Given the description of an element on the screen output the (x, y) to click on. 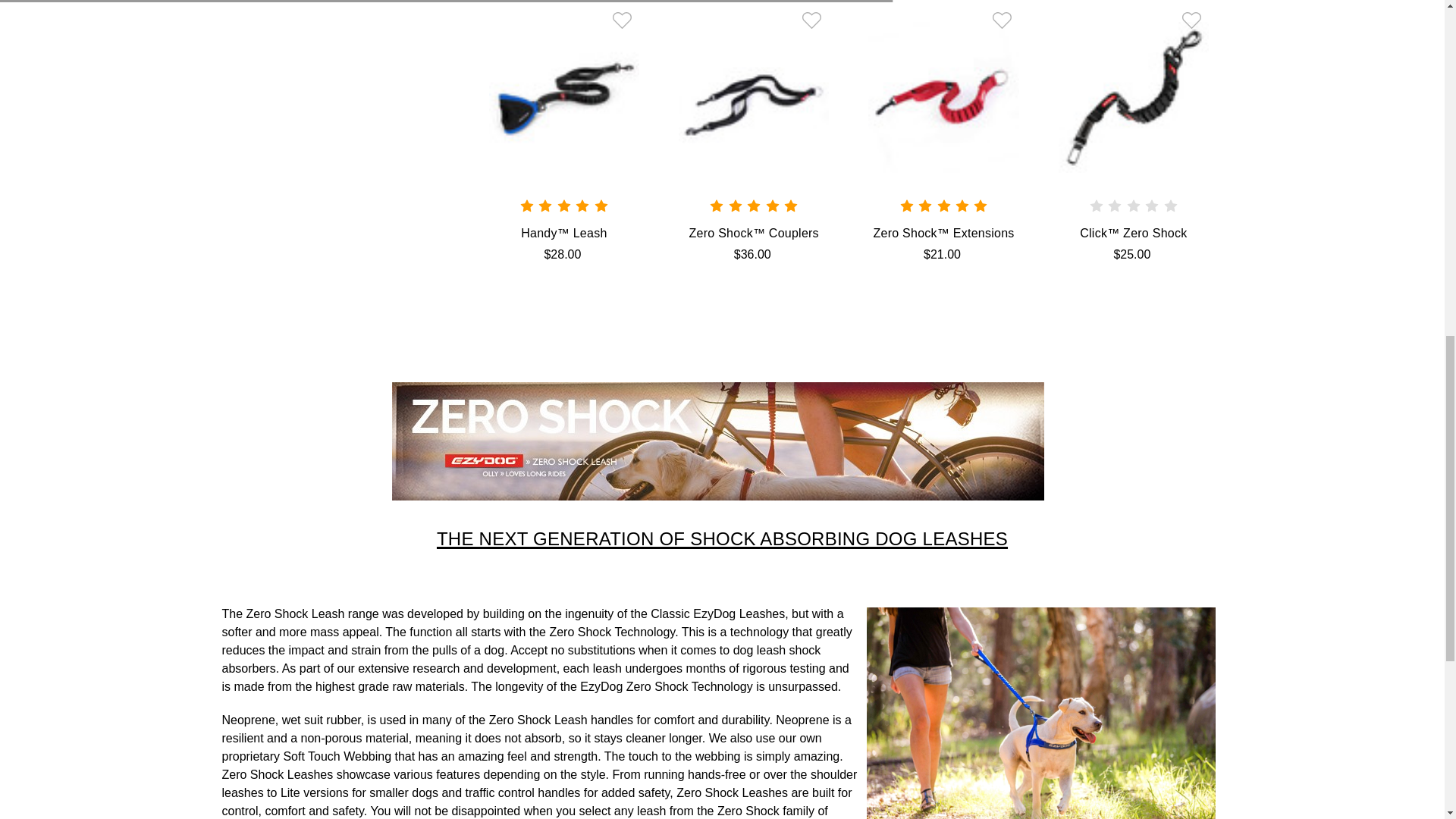
Add to My Wish List (811, 20)
Add to My Wish List (621, 20)
Add to My Wish List (1191, 20)
Add to My Wish List (1001, 20)
